Given the description of an element on the screen output the (x, y) to click on. 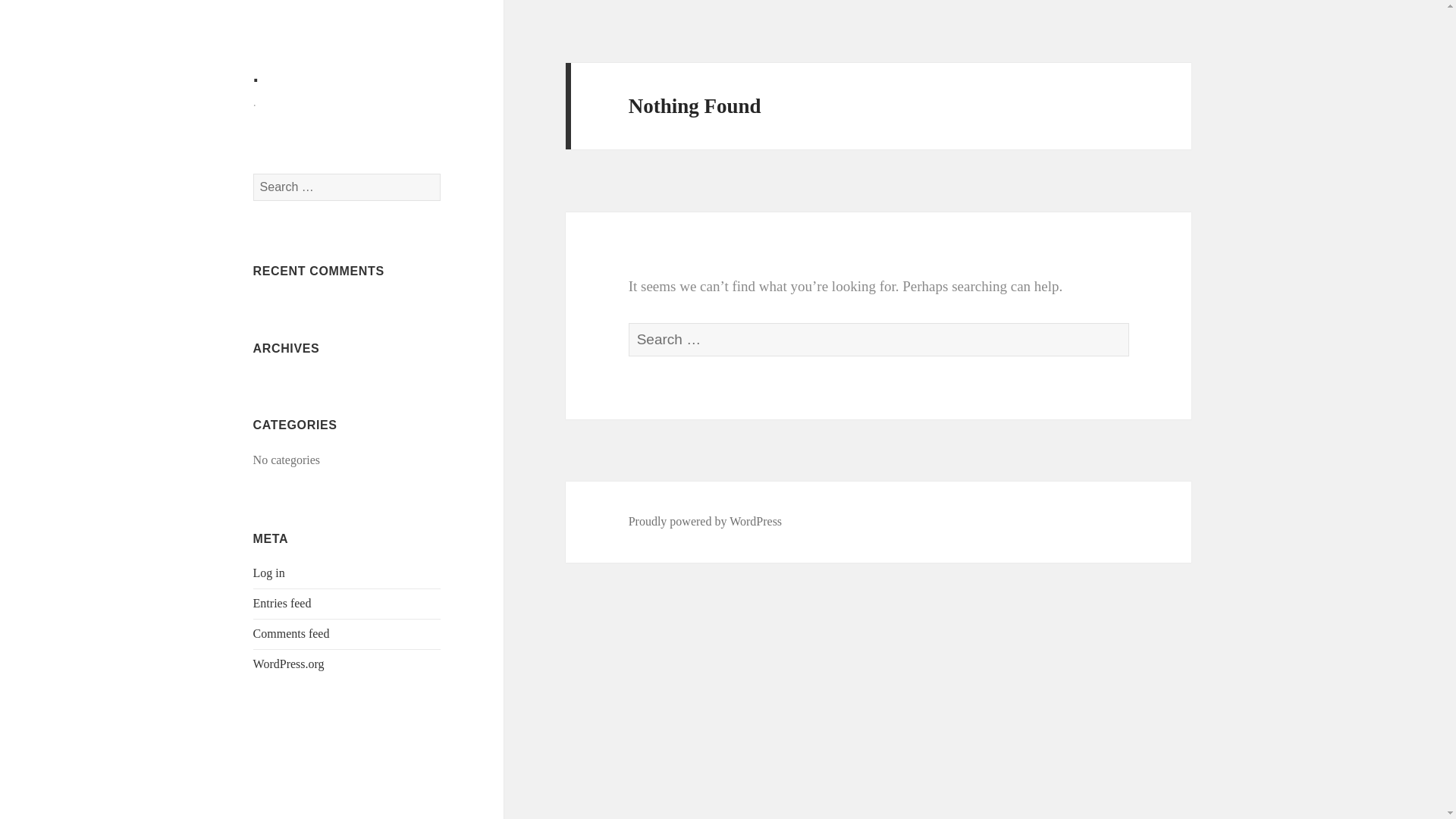
Proudly powered by WordPress (704, 521)
